Given the description of an element on the screen output the (x, y) to click on. 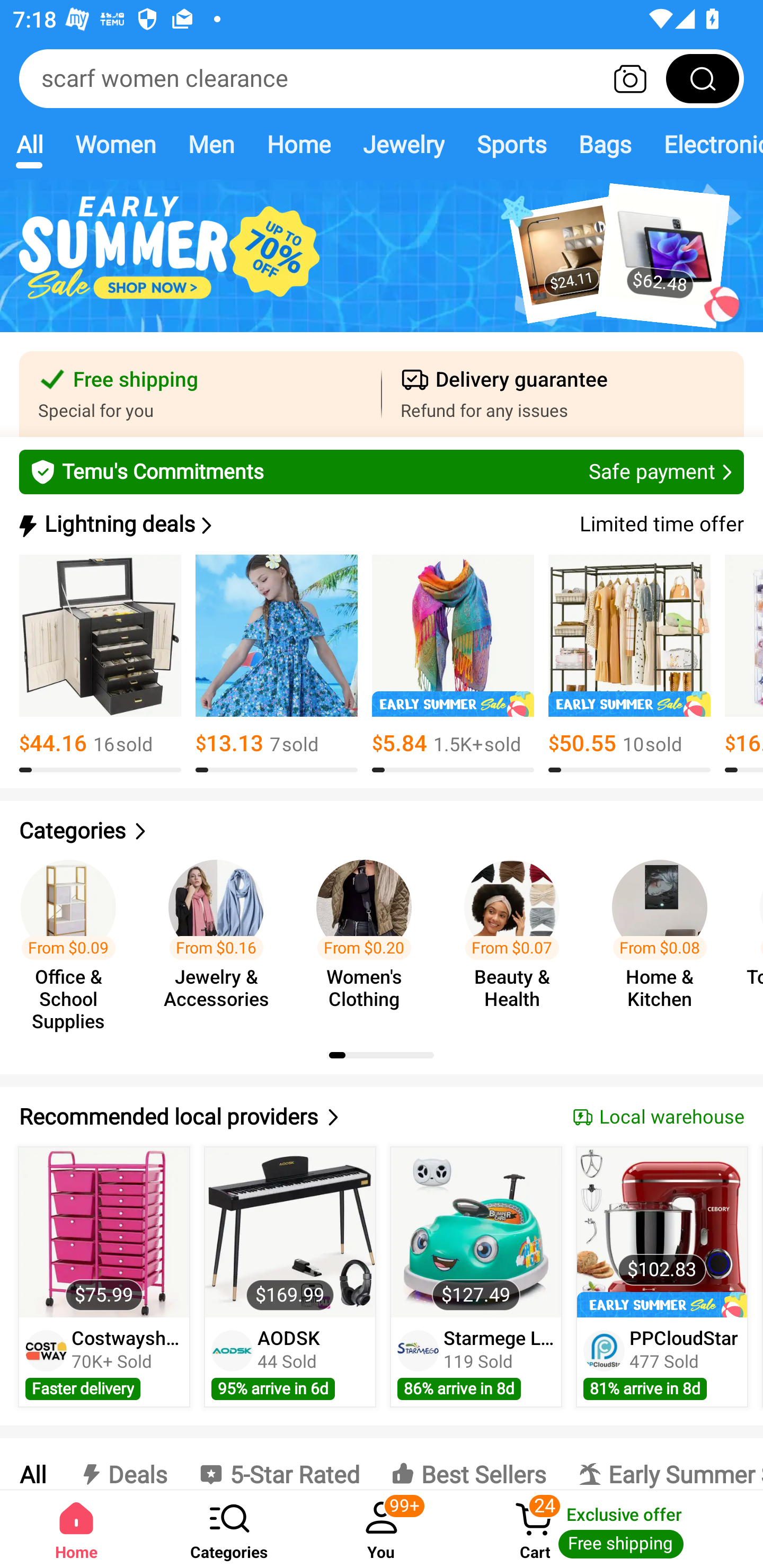
scarf women clearance (381, 78)
All (29, 144)
Women (115, 144)
Men (211, 144)
Home (298, 144)
Jewelry (403, 144)
Sports (511, 144)
Bags (605, 144)
Electronics (705, 144)
$24.11 $62.48 (381, 265)
Free shipping Special for you (200, 394)
Delivery guarantee Refund for any issues (562, 394)
Temu's Commitments (381, 471)
Lightning deals Lightning deals Limited time offer (379, 524)
$44.16 16￼sold 8.0 (100, 664)
$13.13 7￼sold 8.0 (276, 664)
$5.84 1.5K+￼sold 8.0 (453, 664)
$50.55 10￼sold 8.0 (629, 664)
Categories (381, 830)
From $0.09 Office & School Supplies (74, 936)
From $0.16 Jewelry & Accessories (222, 936)
From $0.20 Women's Clothing (369, 936)
From $0.07 Beauty & Health (517, 936)
From $0.08 Home & Kitchen (665, 936)
$75.99 Costwayshop 70K+ Sold Faster delivery (103, 1276)
$169.99 AODSK 44 Sold 95% arrive in 6d (289, 1276)
$102.83 PPCloudStar 477 Sold 81% arrive in 8d (661, 1276)
$75.99 (104, 1232)
$169.99 (290, 1232)
$127.49 (475, 1232)
$102.83 (661, 1232)
All (32, 1463)
Deals Deals Deals (122, 1463)
5-Star Rated 5-Star Rated 5-Star Rated (279, 1463)
Best Sellers Best Sellers Best Sellers (468, 1463)
Home (76, 1528)
Categories (228, 1528)
You ‎99+‎ You (381, 1528)
Cart 24 Cart Exclusive offer (610, 1528)
